Given the description of an element on the screen output the (x, y) to click on. 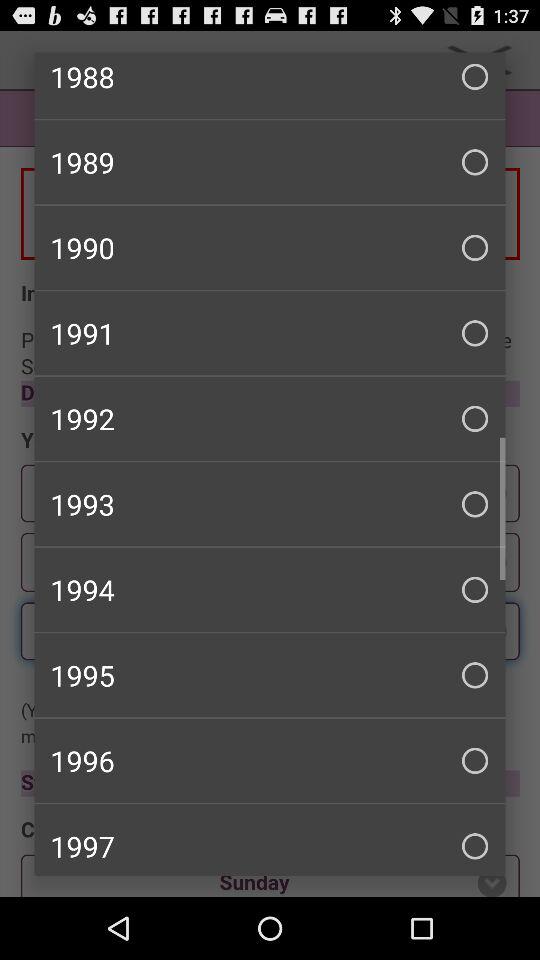
launch the icon above 1993 checkbox (269, 418)
